Given the description of an element on the screen output the (x, y) to click on. 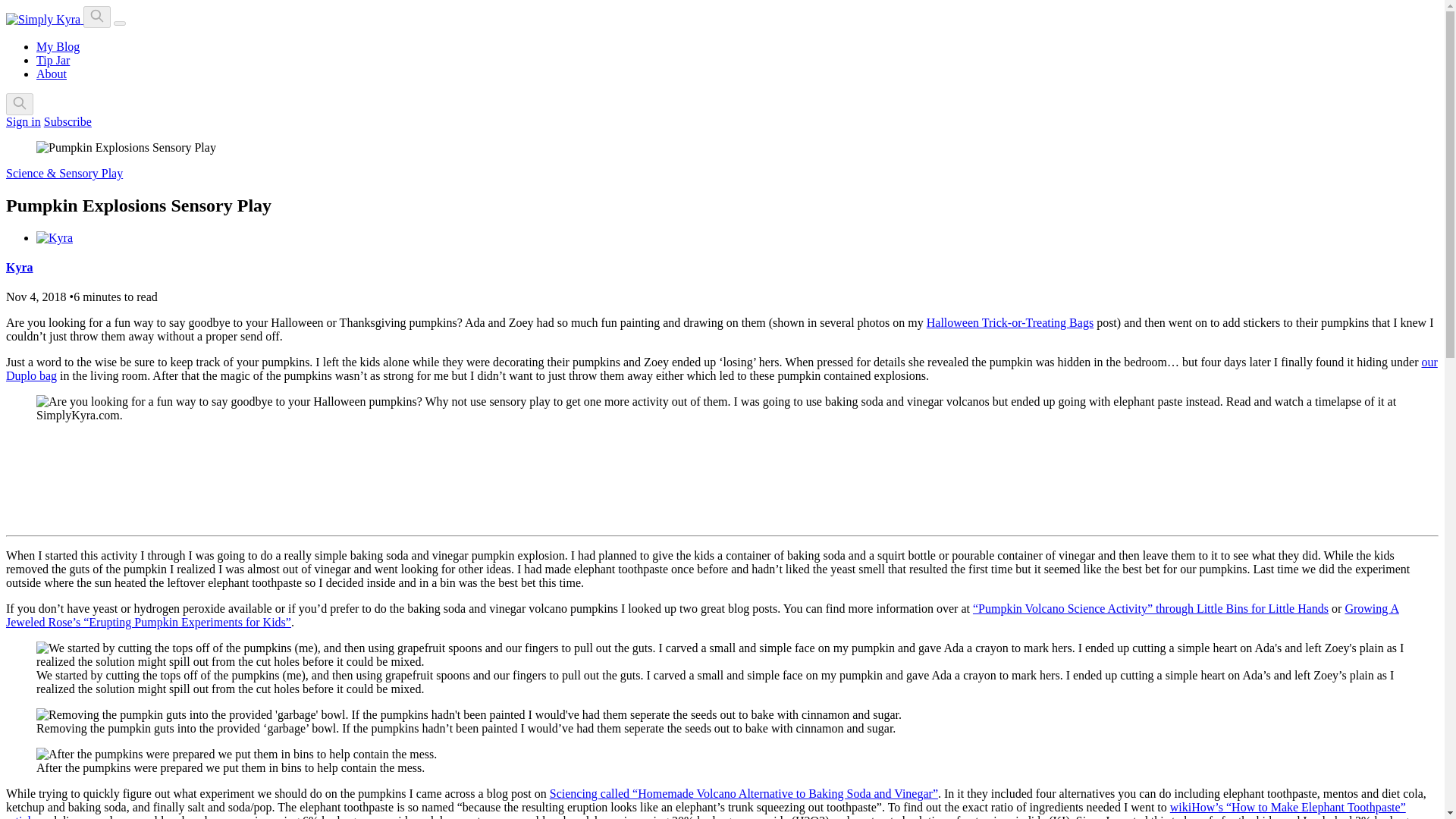
Sign in (22, 121)
Kyra (19, 267)
My Blog (58, 46)
Tip Jar (52, 60)
Subscribe (67, 121)
About (51, 73)
Pumpkin Explosions Sensory Play (111, 477)
Halloween Trick-or-Treating Bags (1009, 322)
